Given the description of an element on the screen output the (x, y) to click on. 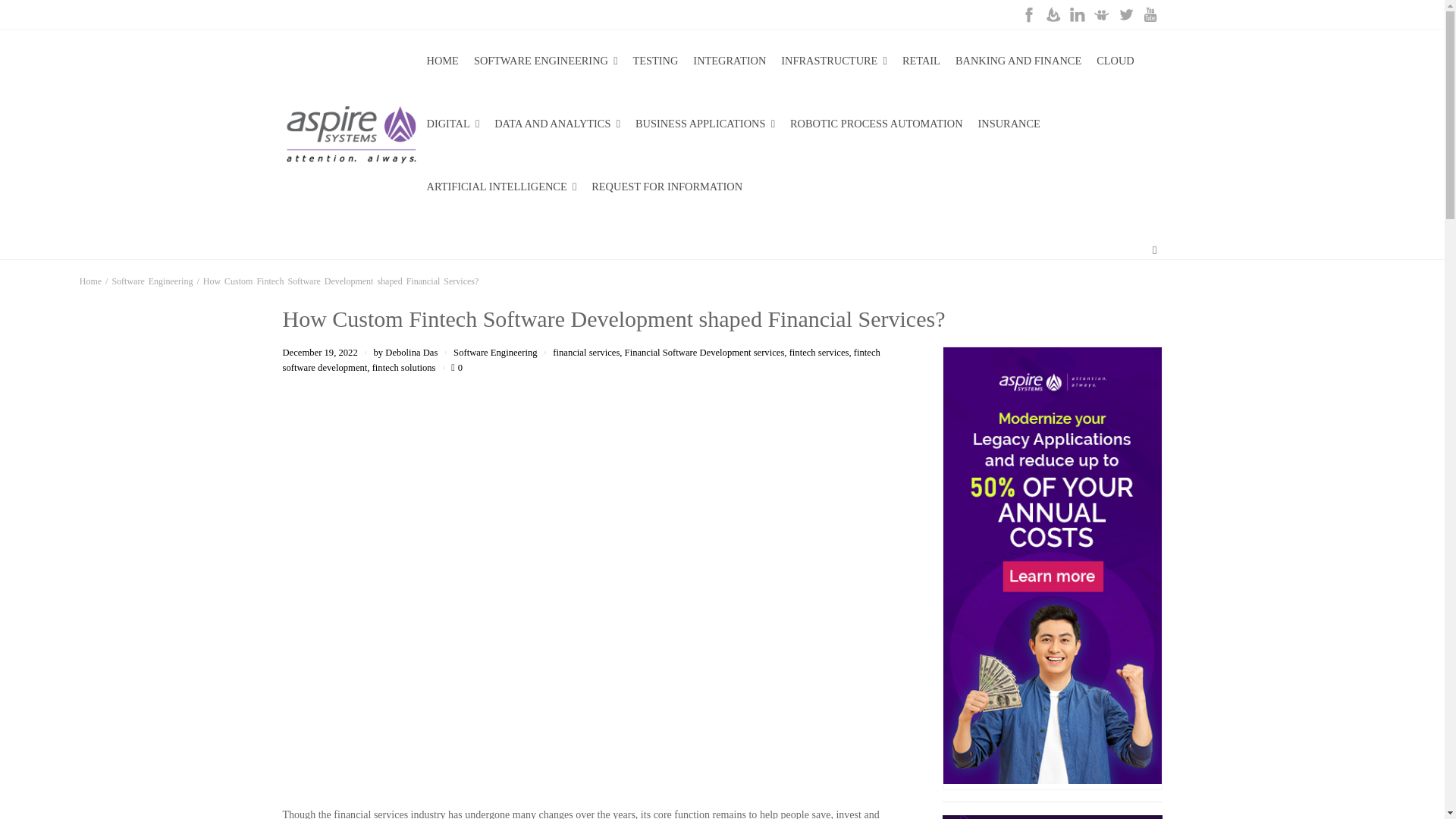
LinkedIn (1076, 14)
Posts by Debolina Das (411, 352)
Infrastructure Managed Services (834, 60)
INFRASTRUCTURE (834, 60)
FeedBurner (1052, 14)
SOFTWARE ENGINEERING (545, 60)
INTEGRATION (729, 60)
Facebook (1028, 14)
Twitter (1125, 14)
BUSINESS APPLICATIONS (705, 123)
DATA AND ANALYTICS (556, 123)
YouTube (1149, 14)
BANKING AND FINANCE (1018, 60)
TESTING (654, 60)
DIGITAL (452, 123)
